Given the description of an element on the screen output the (x, y) to click on. 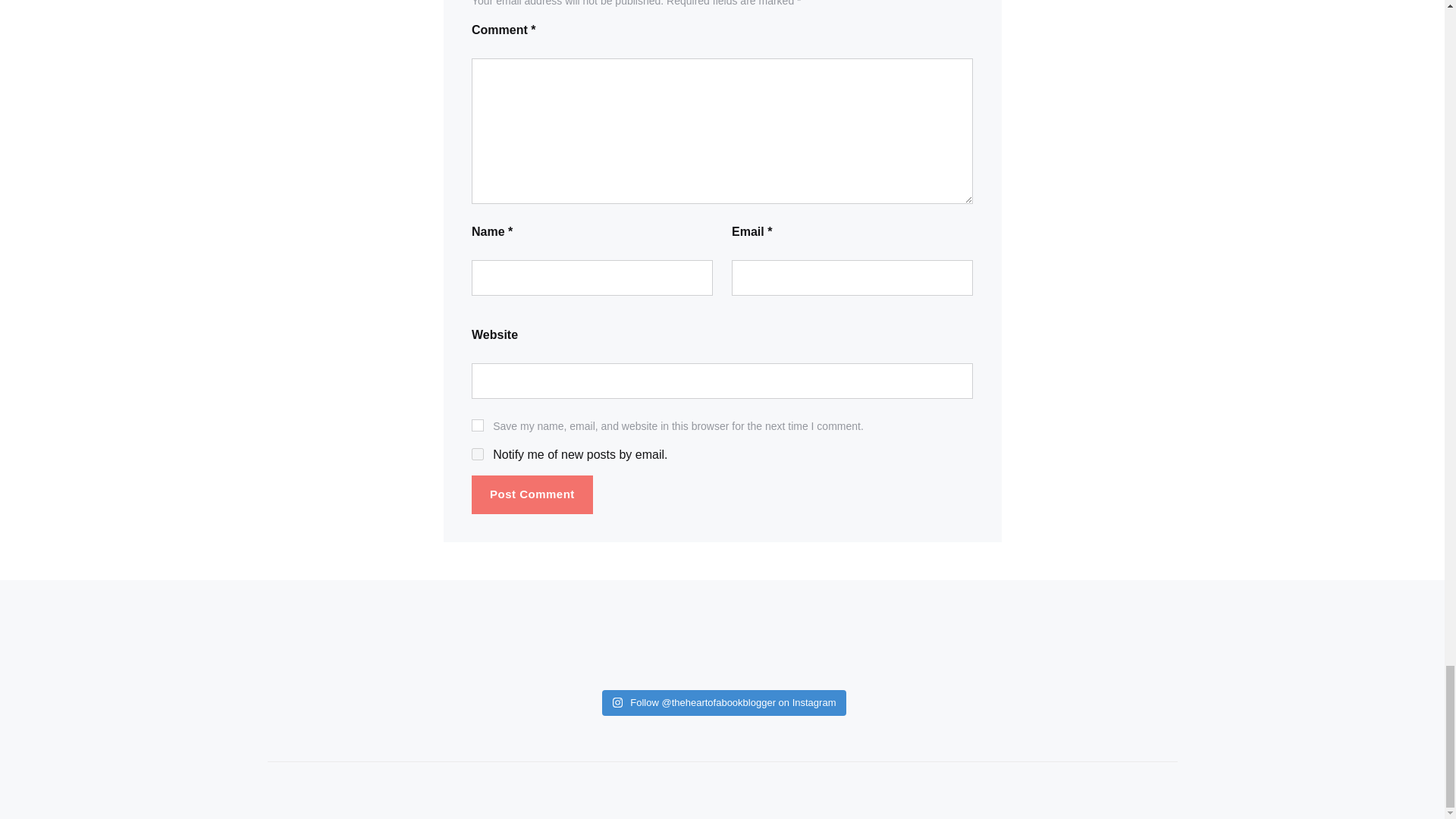
Post Comment (531, 494)
subscribe (477, 453)
yes (477, 425)
